Given the description of an element on the screen output the (x, y) to click on. 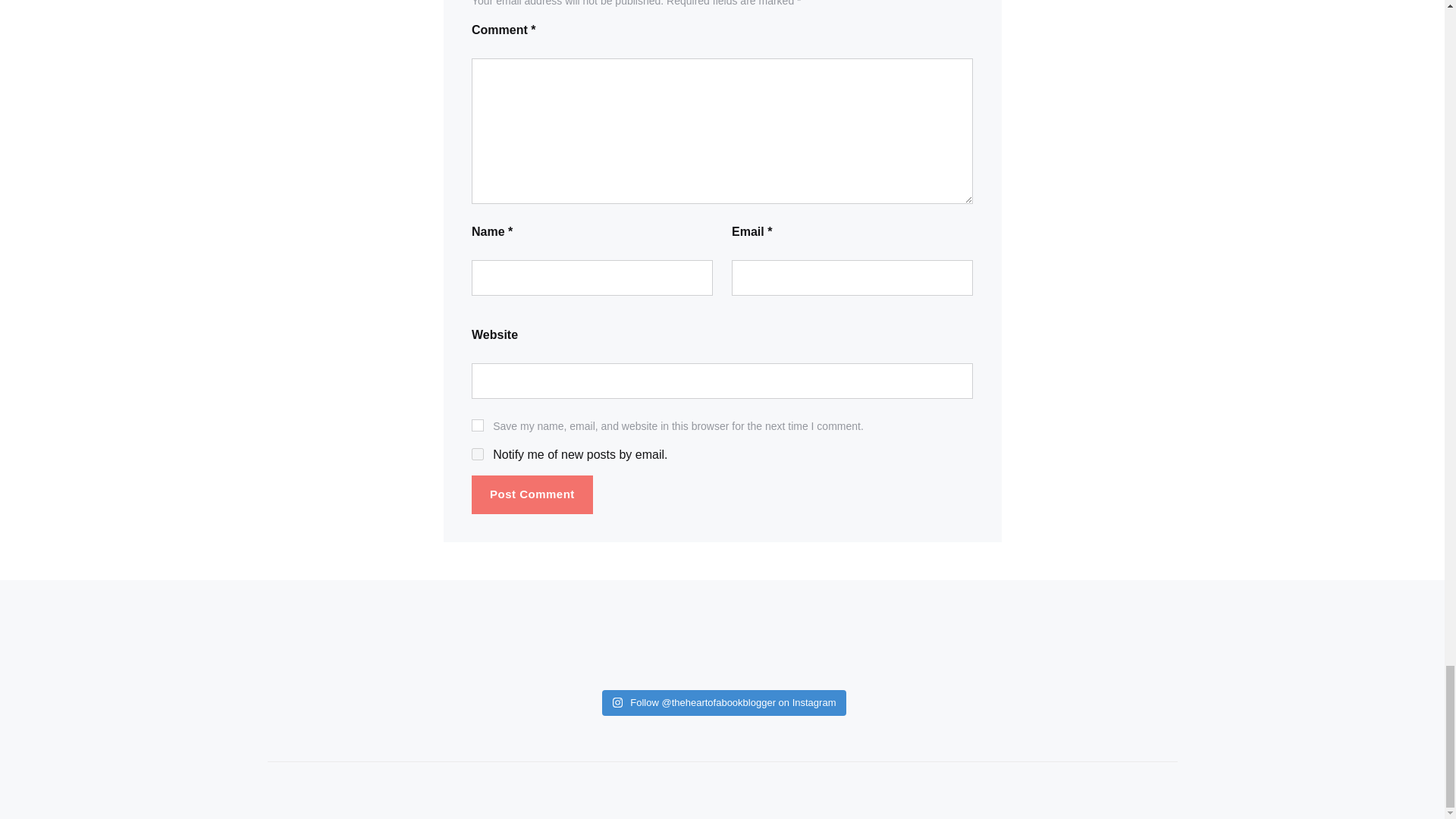
Post Comment (531, 494)
subscribe (477, 453)
yes (477, 425)
